Given the description of an element on the screen output the (x, y) to click on. 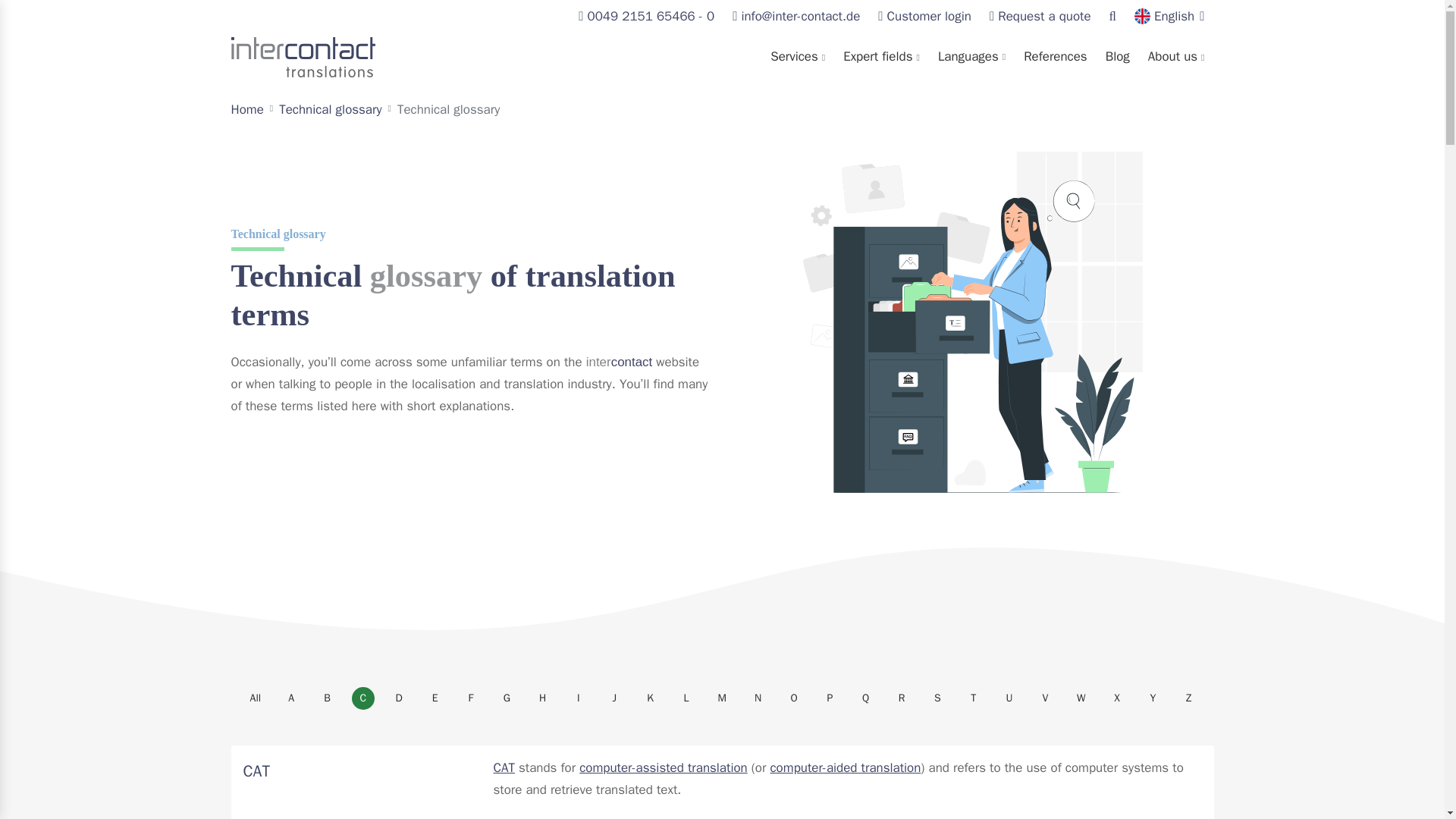
Request a quote (1040, 16)
Open Customer login (924, 16)
Expert fields (881, 56)
English (1169, 16)
 Customer login (924, 16)
 0049 2151 65466 - 0 (646, 16)
Telephone number: 0049 2151 65466 - 0 (646, 16)
Services (797, 56)
 Request a quote (1040, 16)
